Given the description of an element on the screen output the (x, y) to click on. 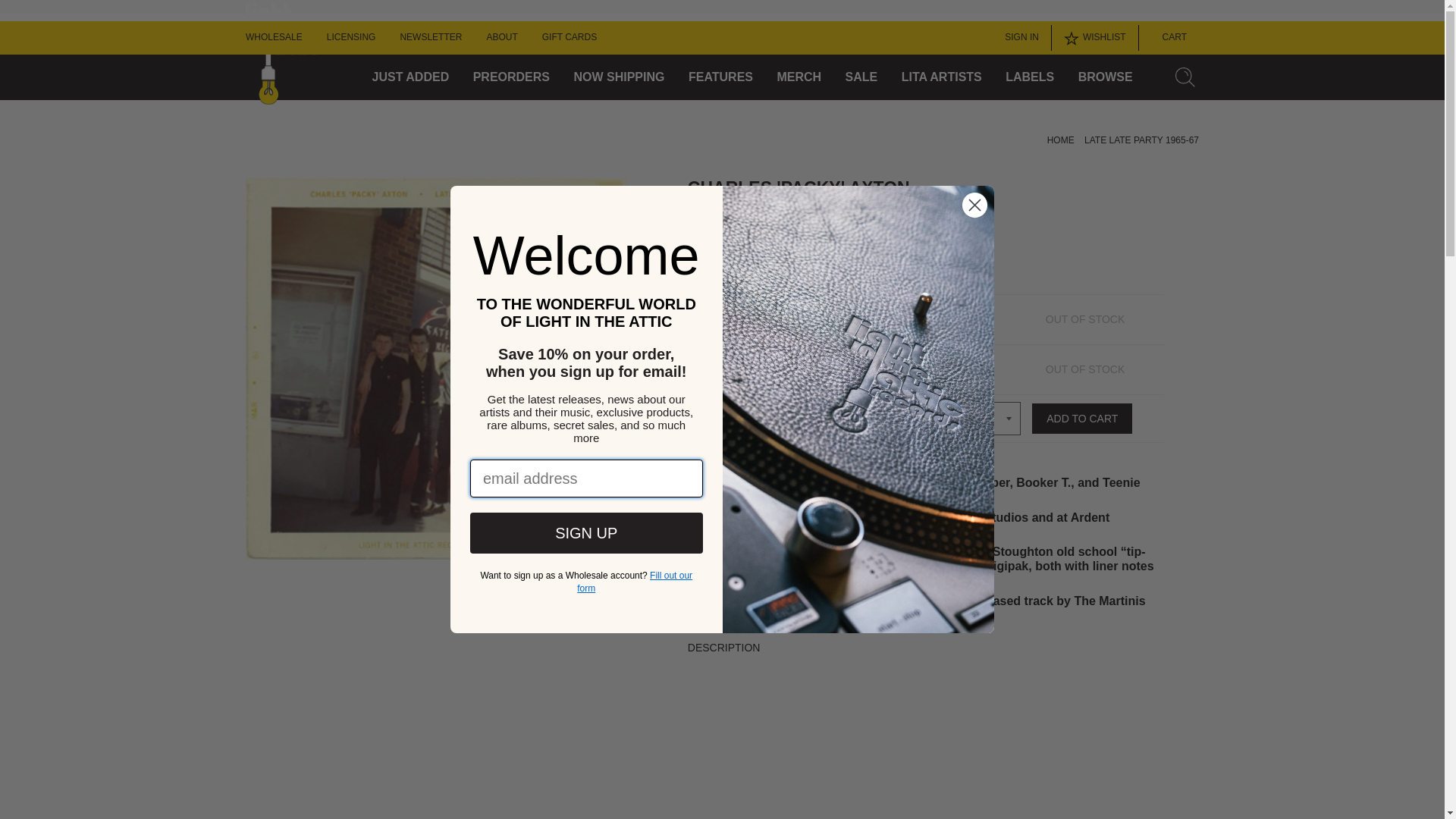
PREORDERS (511, 77)
SIGN IN (1018, 37)
FEATURES (720, 77)
MERCH (798, 77)
Light in the Attic (858, 409)
LITA ARTISTS (941, 77)
LICENSING (350, 37)
CART (1168, 37)
LABELS (1030, 77)
NEWSLETTER (429, 37)
JUST ADDED (410, 77)
NOW SHIPPING (618, 77)
ABOUT (501, 37)
WISHLIST (1094, 37)
